Given the description of an element on the screen output the (x, y) to click on. 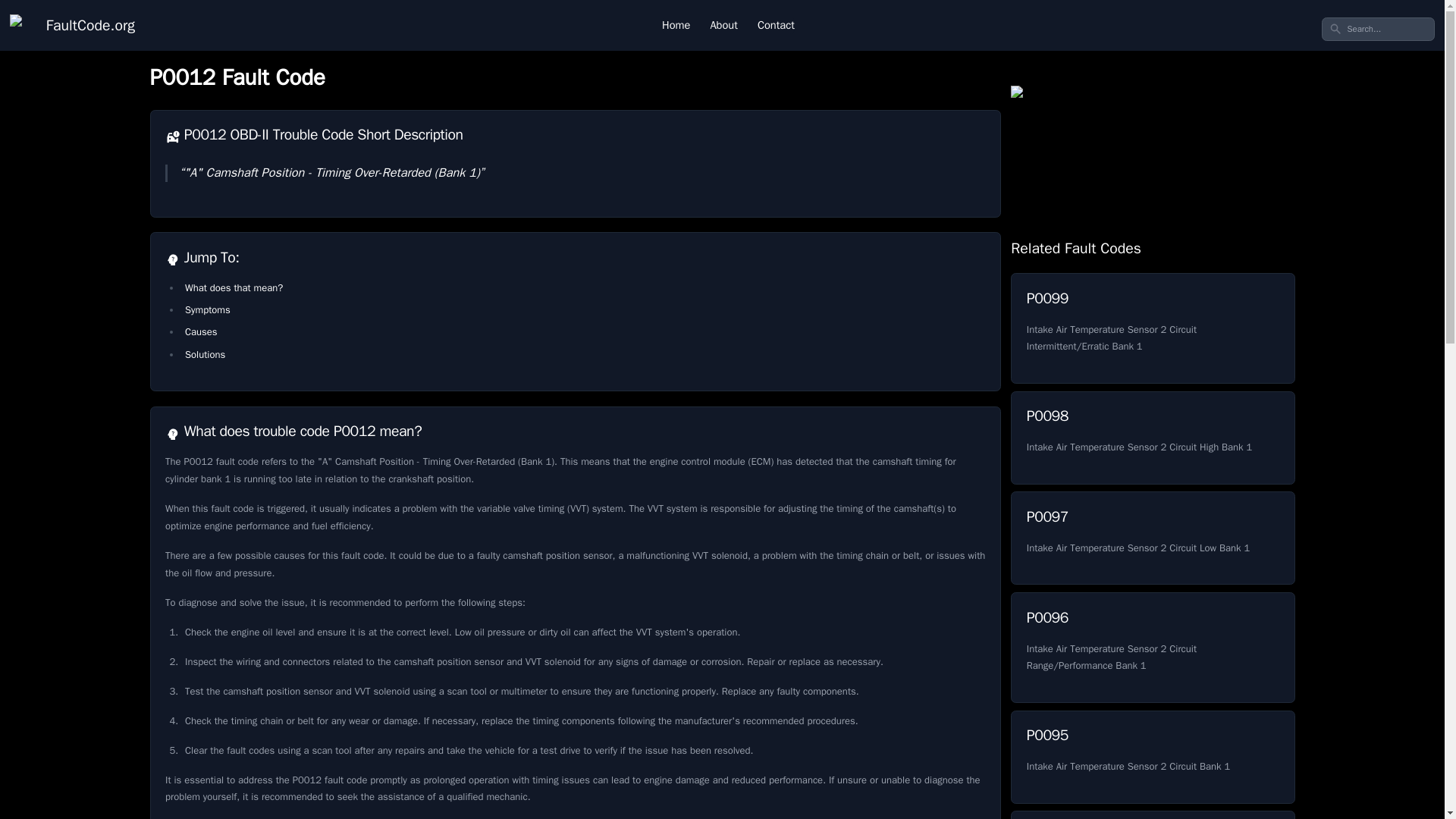
P0094 (1152, 814)
P0099 (1152, 814)
P0095 (1152, 328)
Symptoms (1152, 756)
P0098 (207, 309)
About (1152, 437)
P0097 (723, 25)
Home (1152, 537)
Contact (676, 25)
P0096 (775, 25)
Causes (1152, 647)
FaultCode.org (200, 331)
